Given the description of an element on the screen output the (x, y) to click on. 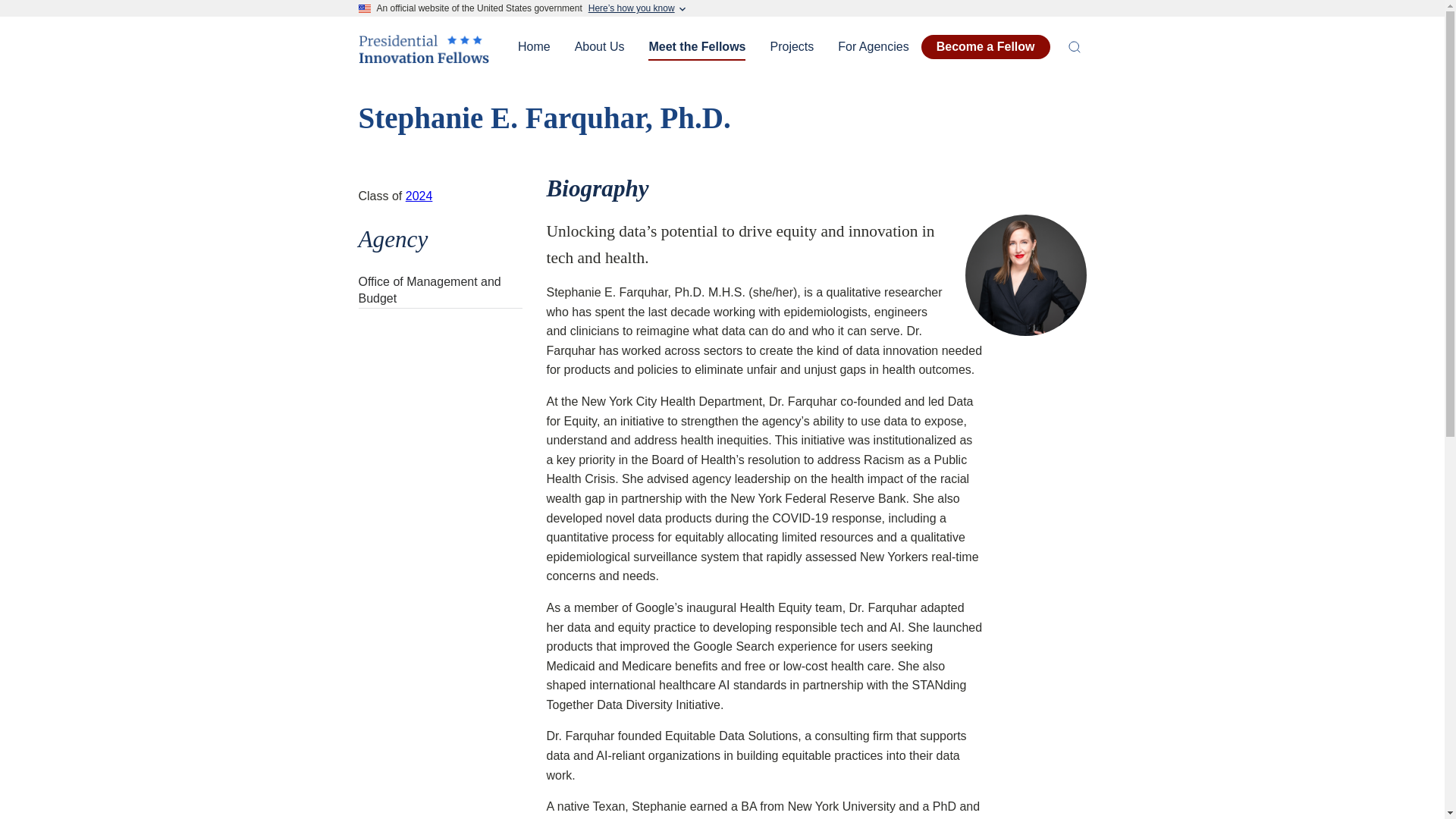
For Agencies (872, 46)
2024 (419, 195)
Meet the Fellows (696, 46)
Become a Fellow (985, 46)
Home (533, 46)
search the site (1073, 46)
Home (422, 57)
Projects (791, 46)
About Us (599, 46)
